Given the description of an element on the screen output the (x, y) to click on. 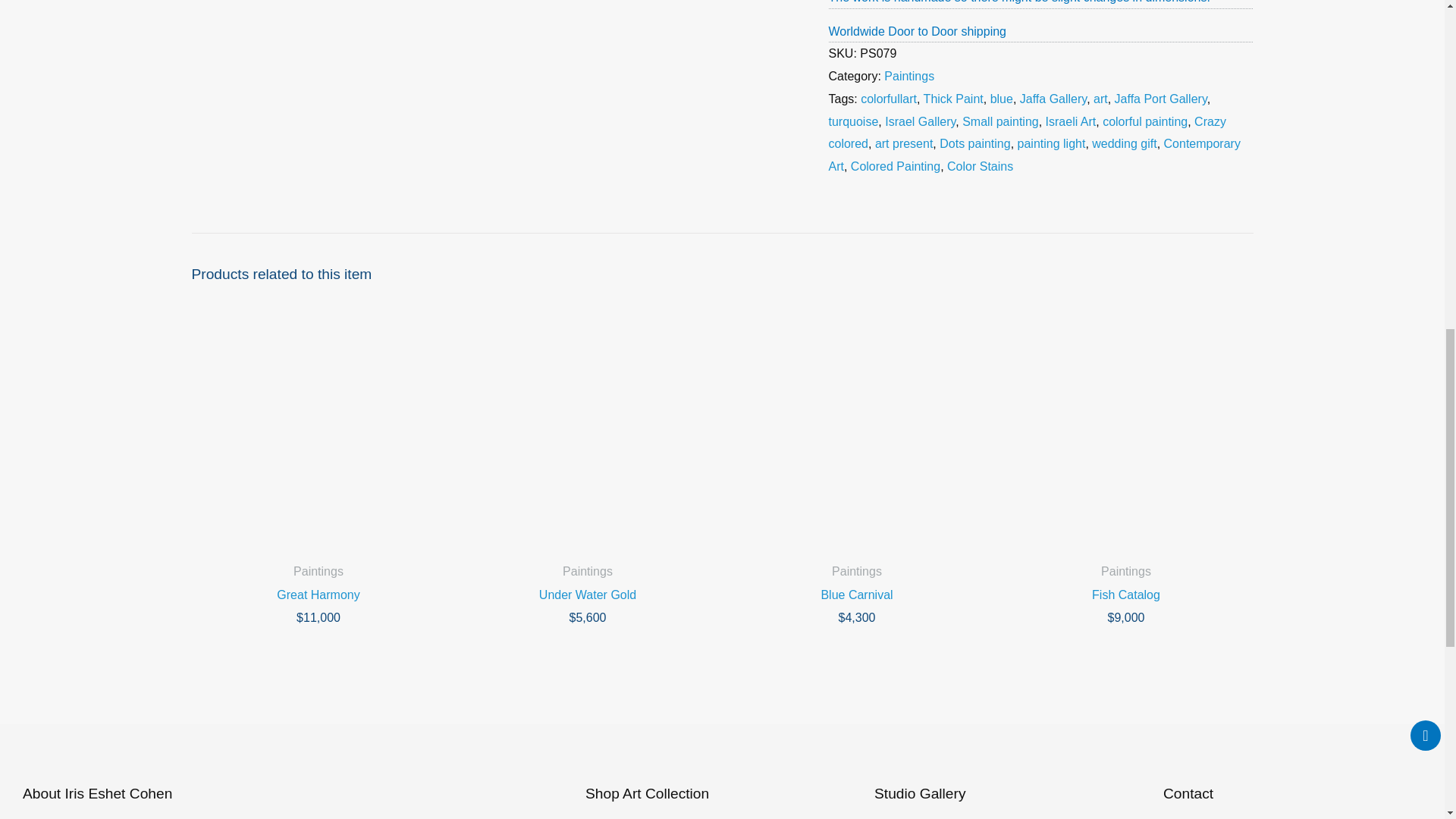
Jaffa Gallery (1053, 98)
Paintings (908, 75)
colorfullart (888, 98)
Thick Paint (953, 98)
art (1100, 98)
blue (1001, 98)
